Given the description of an element on the screen output the (x, y) to click on. 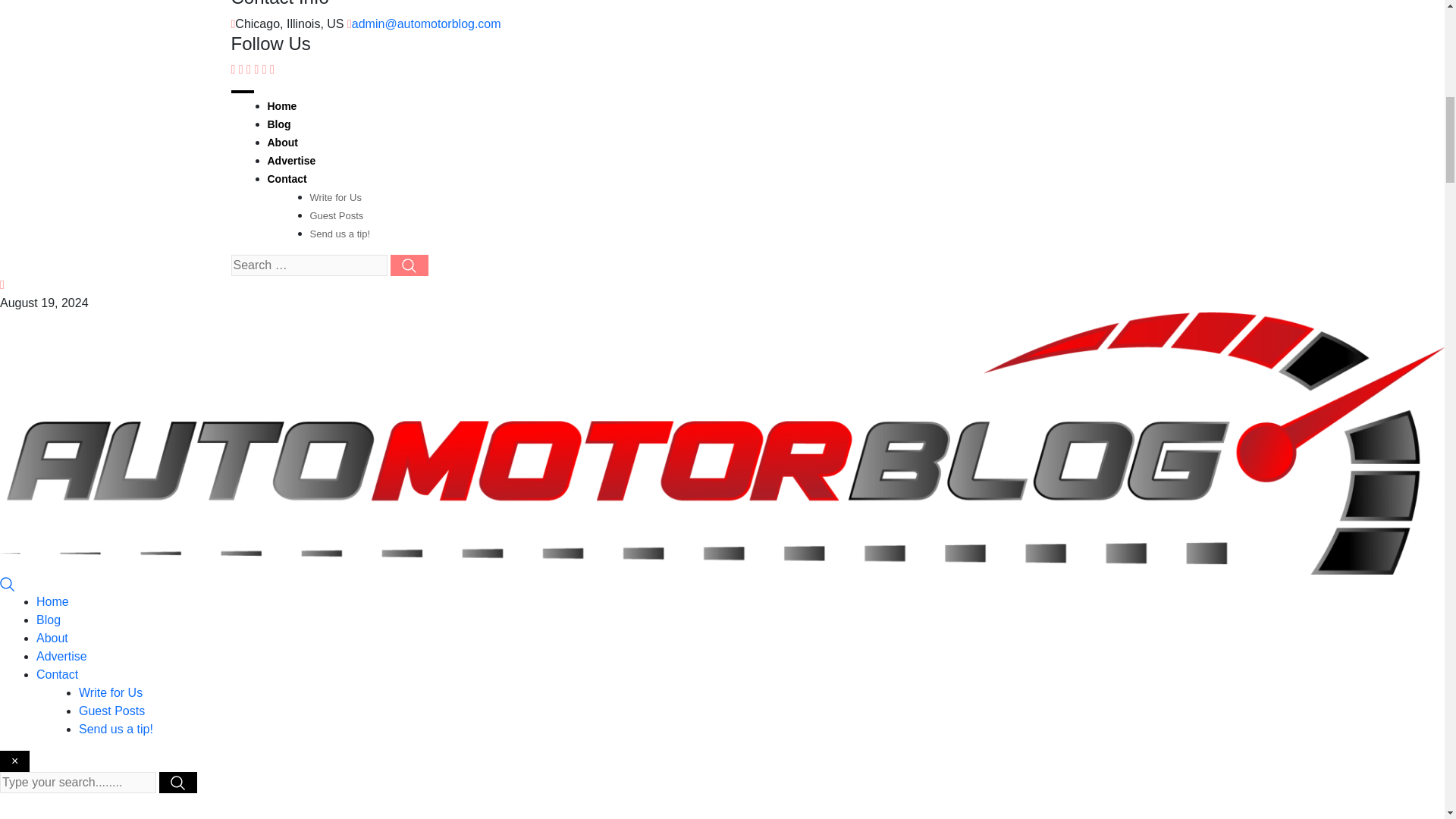
Contact (285, 178)
Write for Us (110, 692)
Contact (57, 674)
Search (7, 583)
Advertise (290, 160)
Blog (277, 123)
Send us a tip! (338, 233)
Go to the Lamborghini Category archives. (663, 818)
About (281, 142)
